Given the description of an element on the screen output the (x, y) to click on. 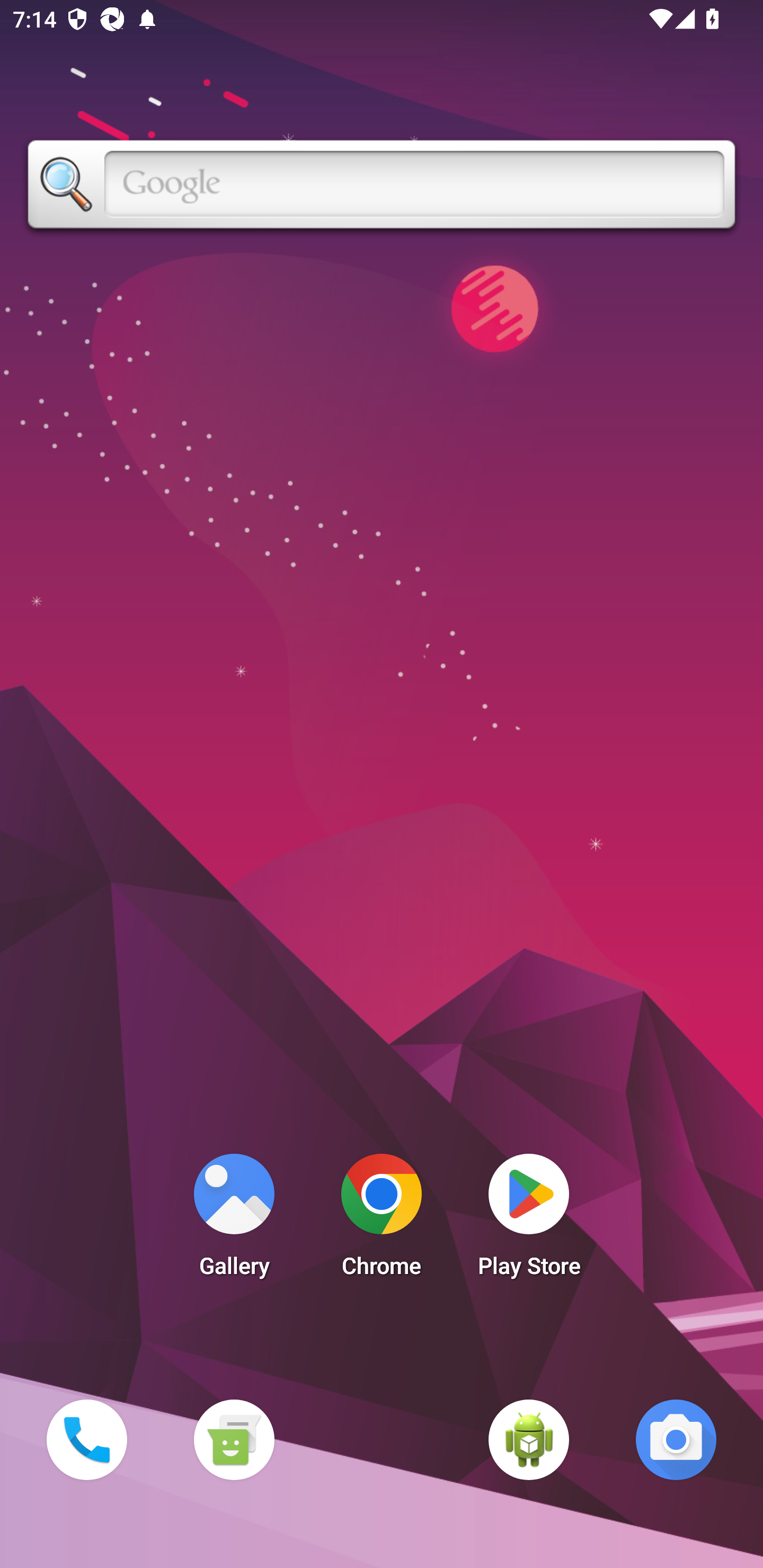
Gallery (233, 1220)
Chrome (381, 1220)
Play Store (528, 1220)
Phone (86, 1439)
Messaging (233, 1439)
WebView Browser Tester (528, 1439)
Camera (676, 1439)
